Given the description of an element on the screen output the (x, y) to click on. 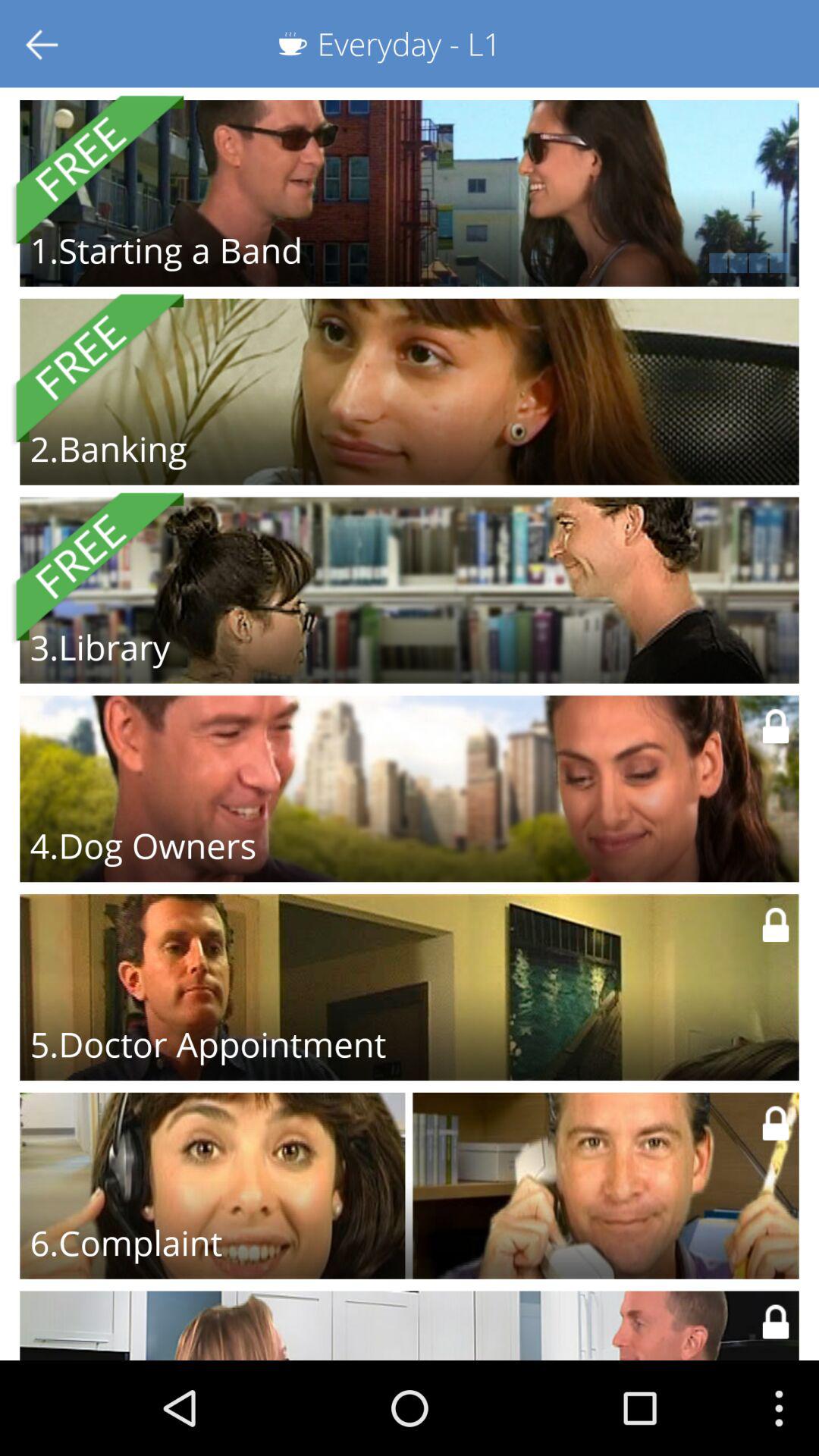
flip until 4.dog owners icon (143, 845)
